Given the description of an element on the screen output the (x, y) to click on. 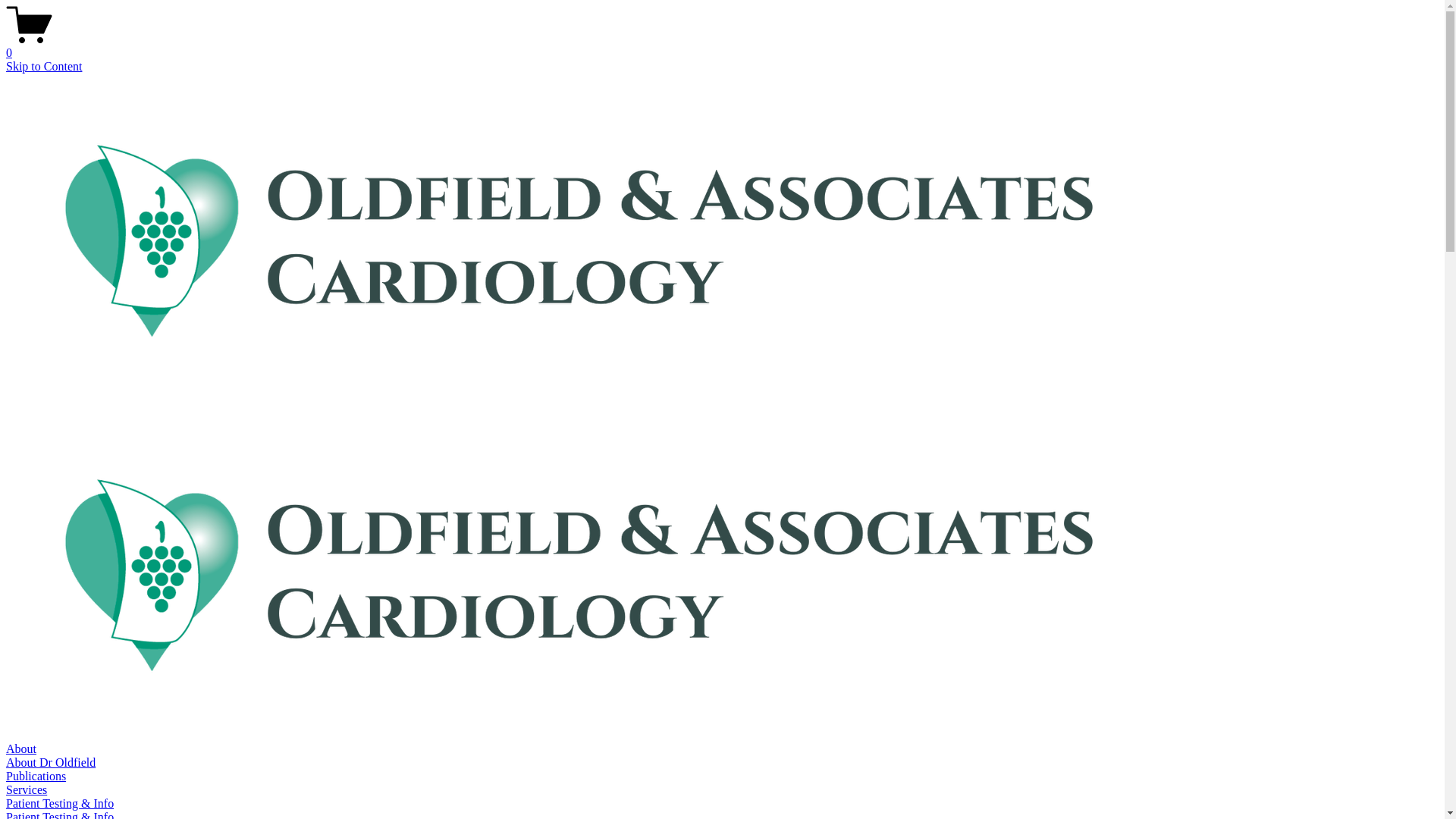
Publications Element type: text (35, 775)
Patient Testing & Info Element type: text (59, 803)
0 Element type: text (722, 45)
About Element type: text (21, 748)
Services Element type: text (26, 789)
About Dr Oldfield Element type: text (50, 762)
Skip to Content Element type: text (43, 65)
